Given the description of an element on the screen output the (x, y) to click on. 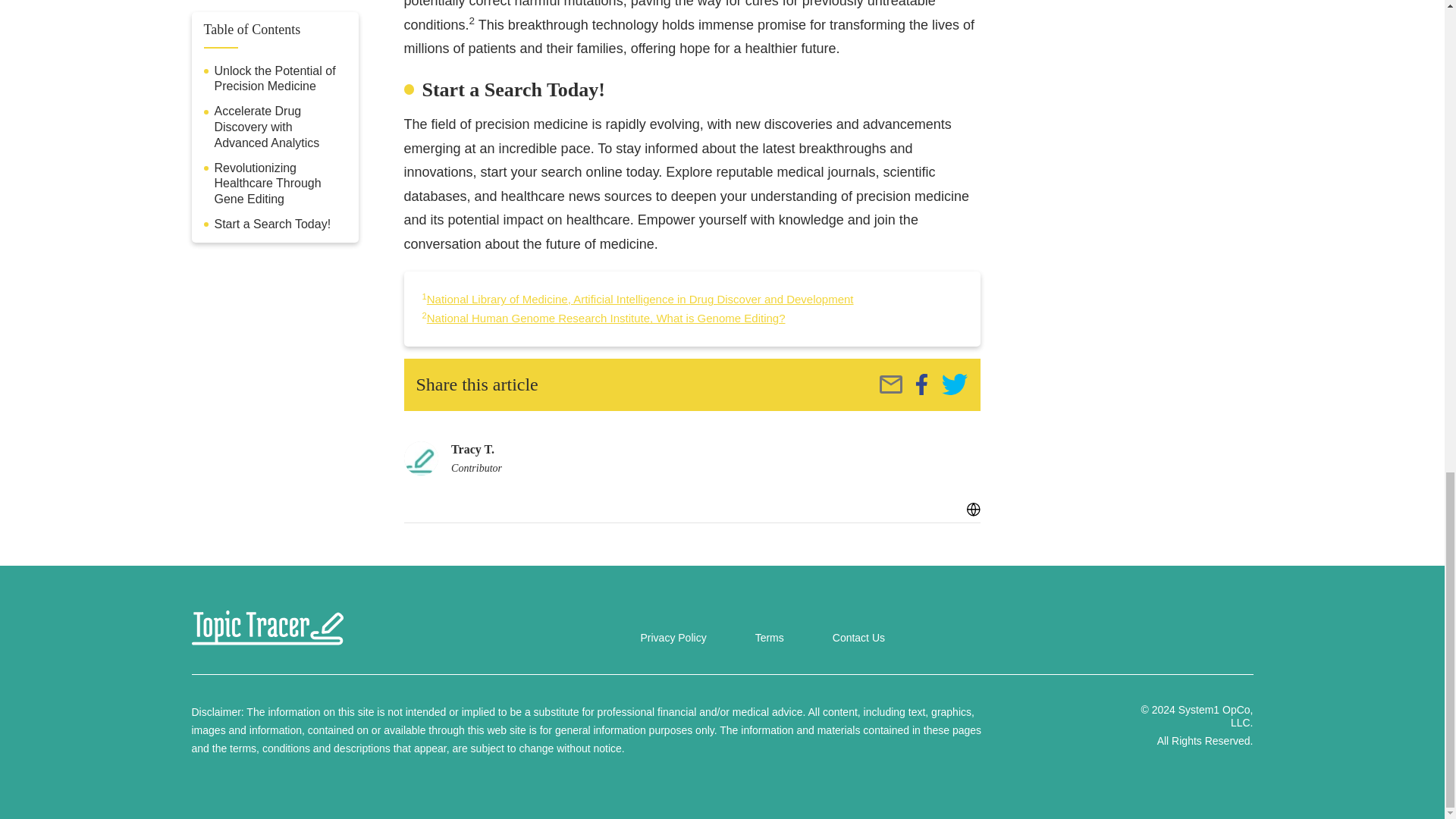
Share by Email (890, 384)
Privacy Policy (673, 637)
